Given the description of an element on the screen output the (x, y) to click on. 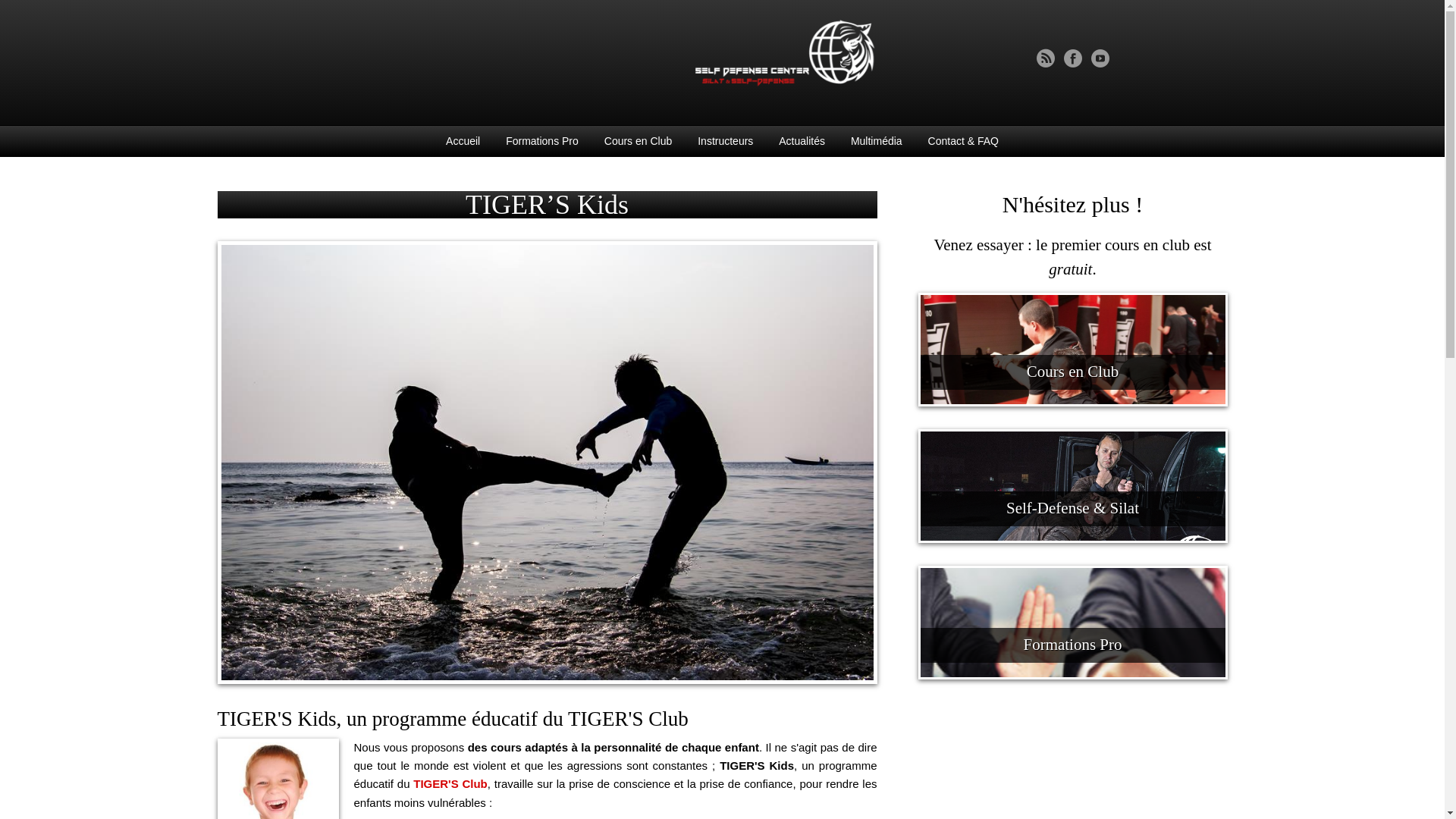
Instructeurs Element type: text (724, 140)
Formations Pro Element type: text (541, 140)
Cours en Club Element type: text (637, 140)
Contact & FAQ Element type: text (963, 140)
TIGER'S Club Element type: text (450, 783)
Accueil Element type: text (462, 140)
